Given the description of an element on the screen output the (x, y) to click on. 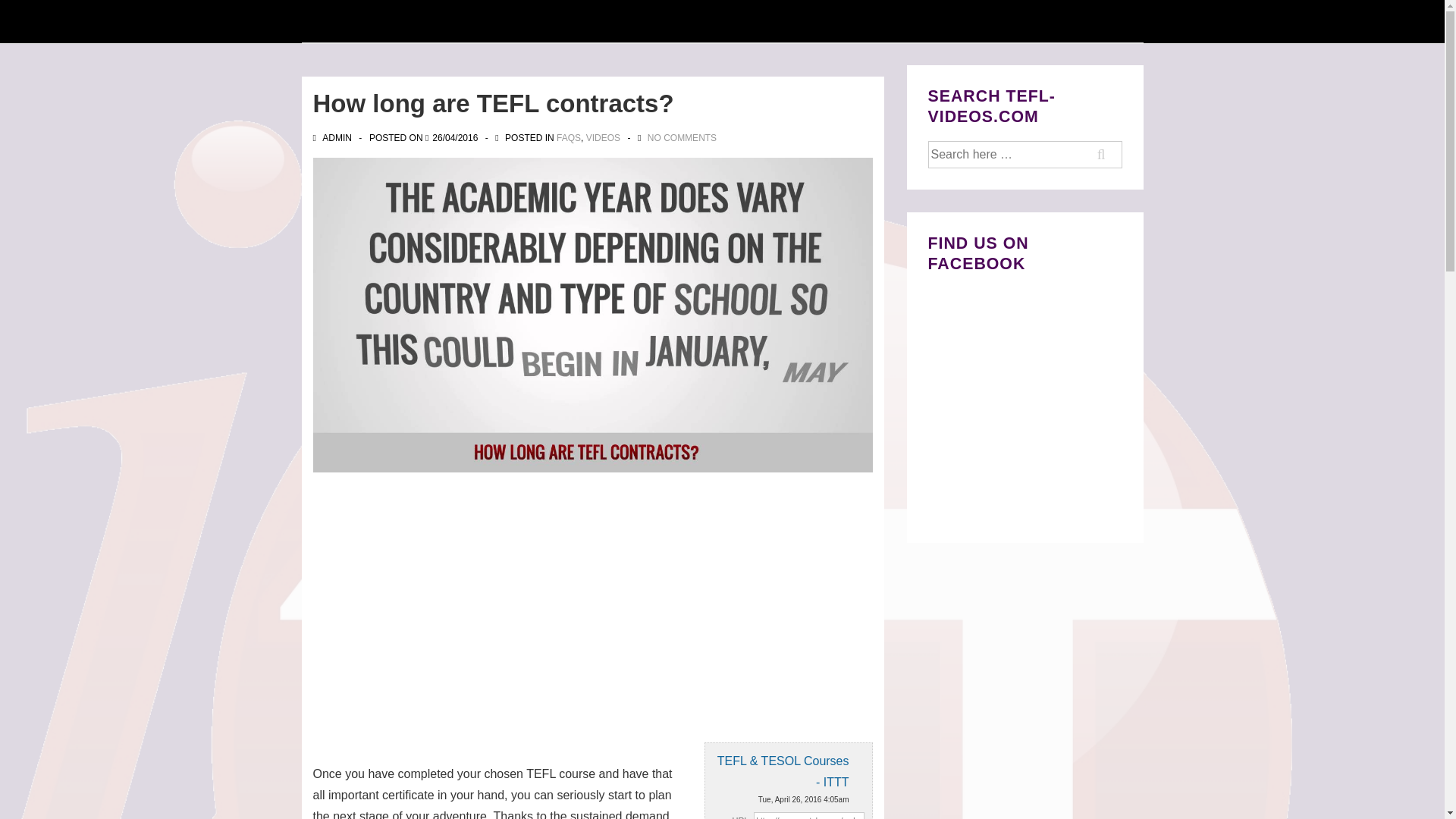
VIDEOS (603, 137)
FAQS (568, 137)
View all posts by admin (333, 137)
YouTube video player (504, 604)
How long are TEFL contracts? (454, 137)
NO COMMENTS (681, 137)
ADMIN (333, 137)
